Given the description of an element on the screen output the (x, y) to click on. 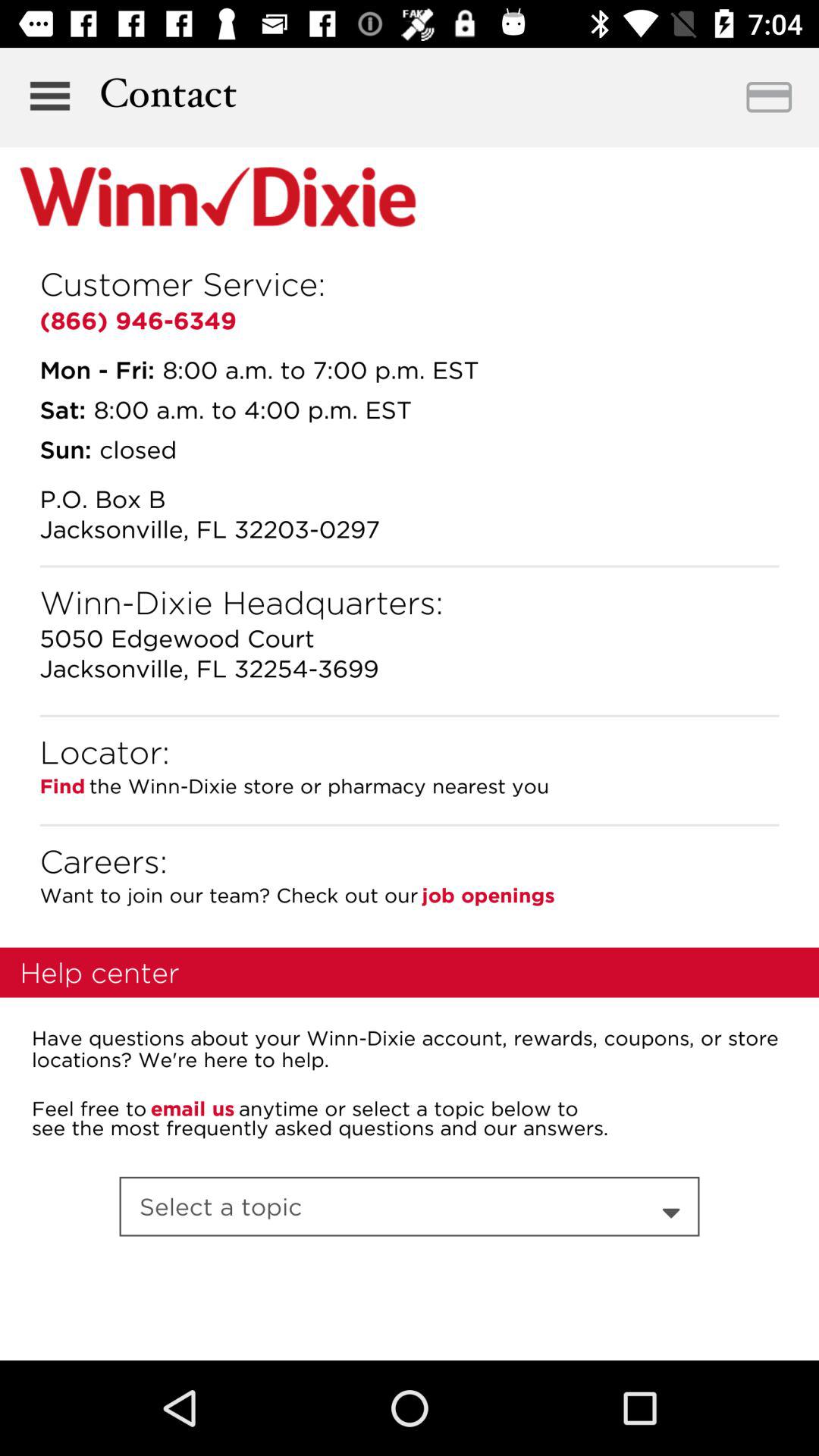
select the item next to job openings item (103, 861)
